Given the description of an element on the screen output the (x, y) to click on. 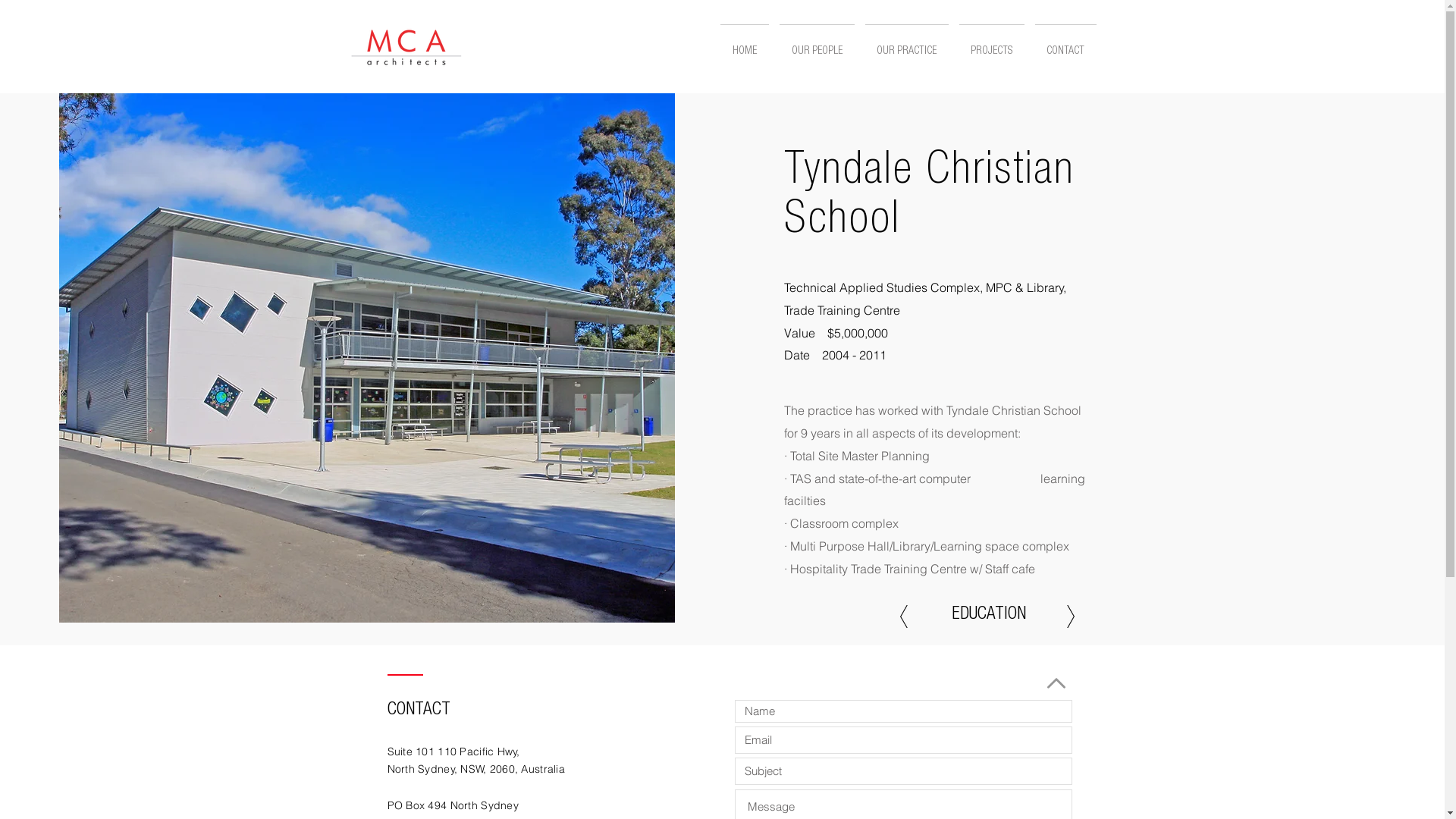
HOME Element type: text (743, 44)
Previous Element type: hover (903, 616)
EDUCATION Element type: text (988, 616)
OUR PEOPLE Element type: text (816, 44)
OUR PRACTICE Element type: text (906, 44)
CONTACT Element type: text (1065, 44)
Next Element type: hover (1069, 616)
